Given the description of an element on the screen output the (x, y) to click on. 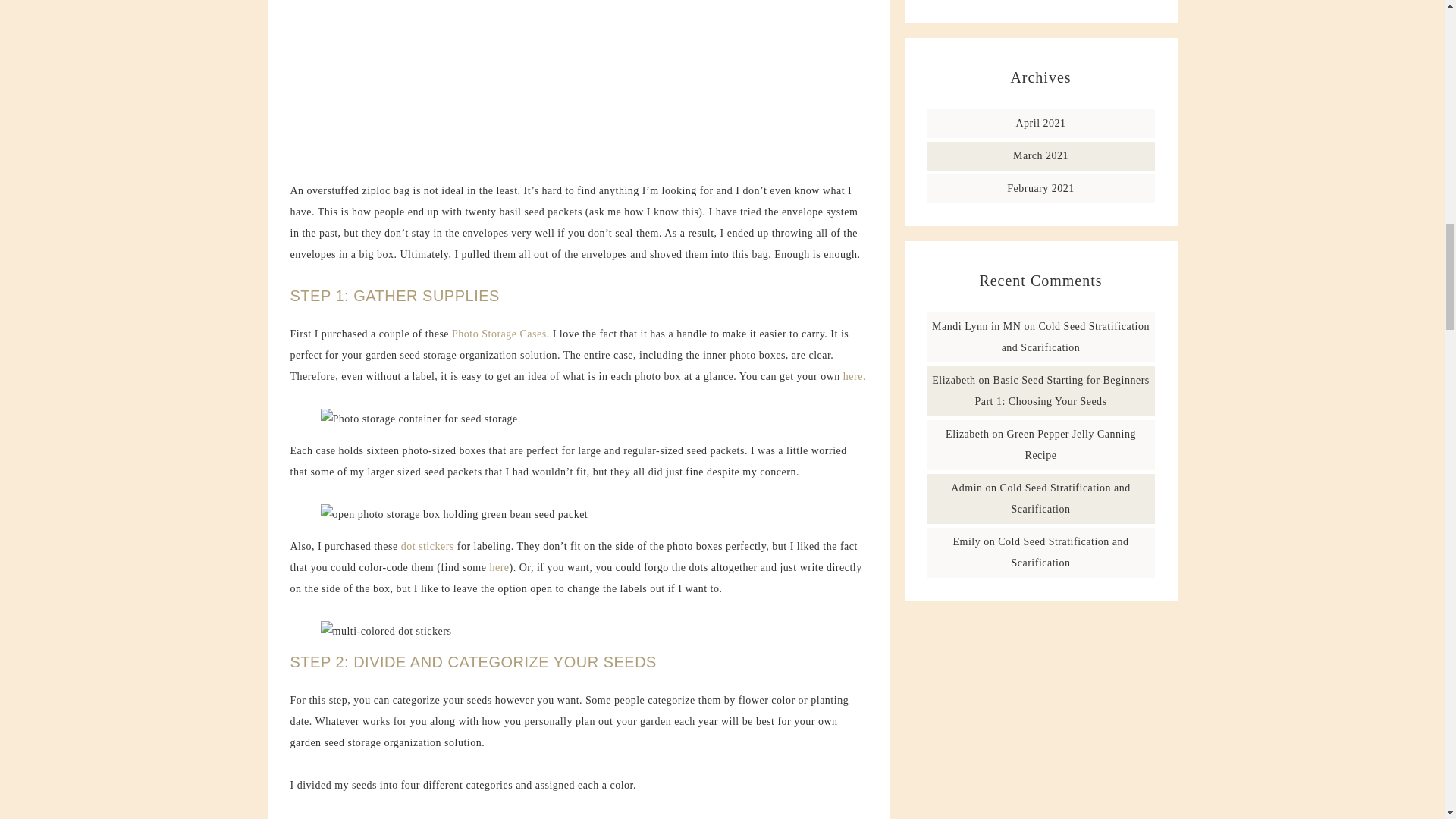
Photo Storage Cases (499, 333)
dot stickers (427, 546)
here (498, 567)
here (853, 376)
